Given the description of an element on the screen output the (x, y) to click on. 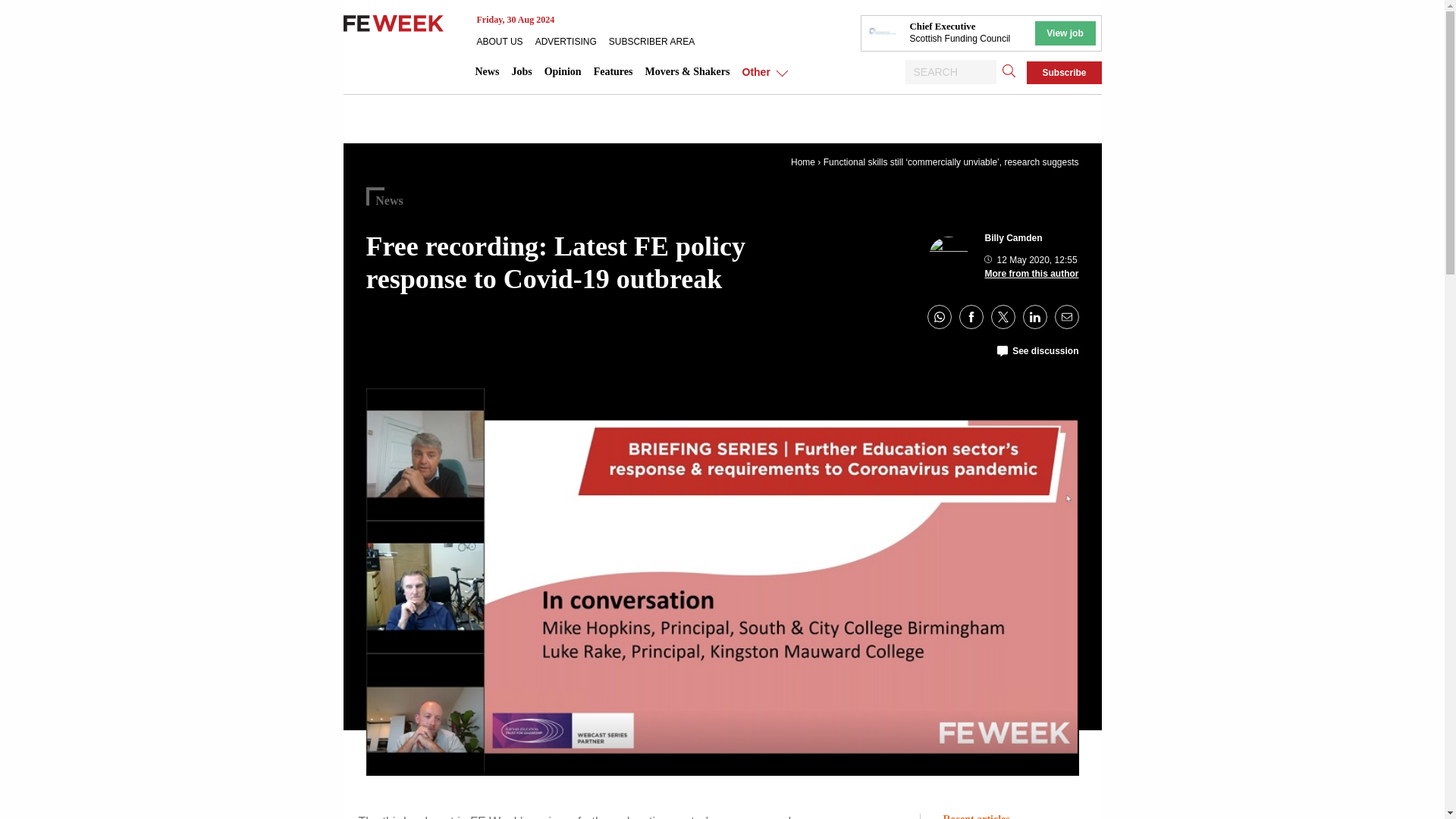
SUBSCRIBER AREA (657, 41)
Posts by Billy Camden (1013, 237)
ABOUT US (505, 41)
ADVERTISING (571, 41)
Home (802, 162)
News (486, 71)
View job (1063, 33)
